Given the description of an element on the screen output the (x, y) to click on. 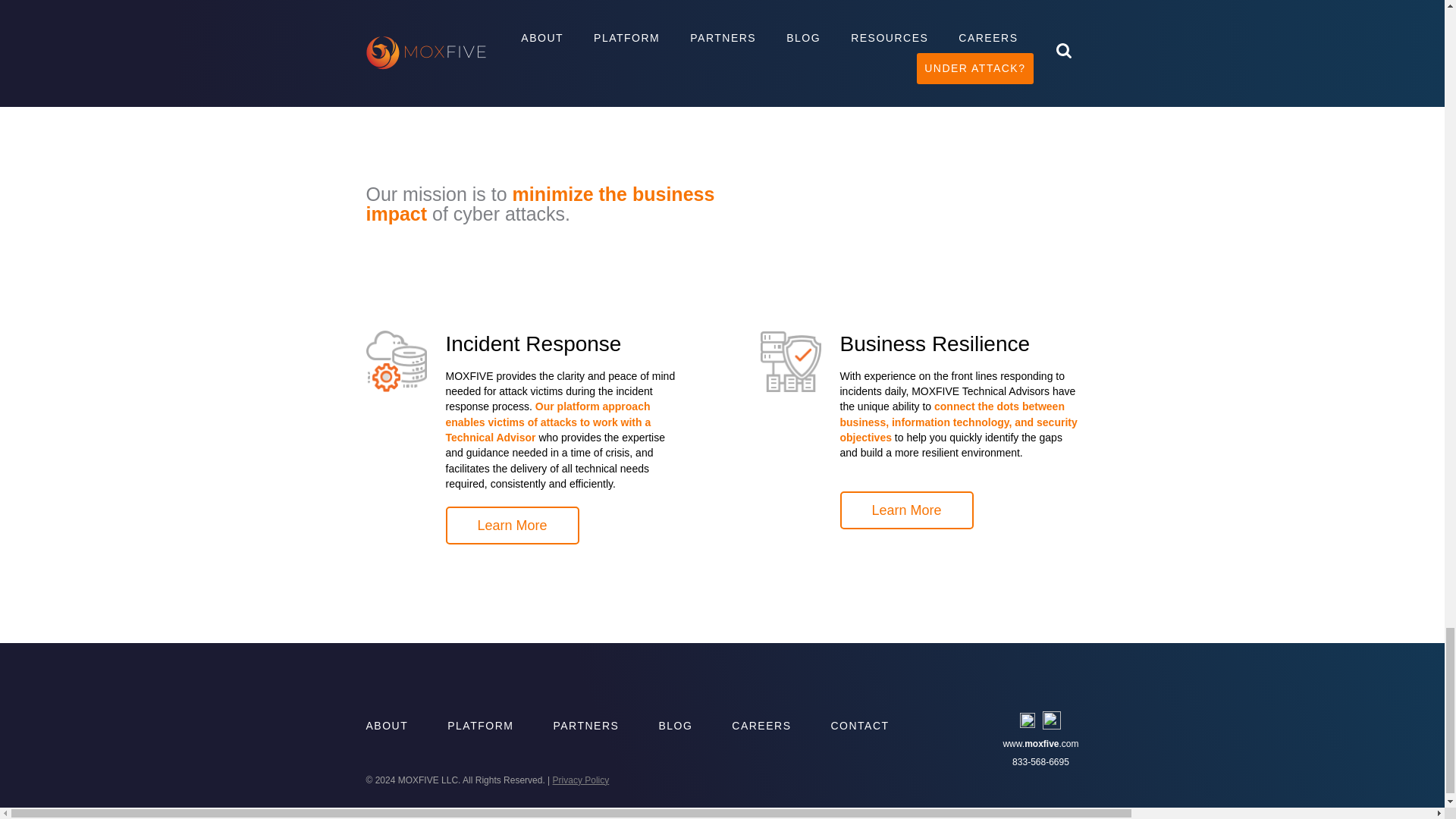
833-568-6695 (1039, 761)
CONTACT (858, 725)
Learn More (512, 525)
PLATFORM (479, 725)
Learn More (907, 510)
BLOG (675, 725)
CAREERS (761, 725)
Privacy Policy (581, 779)
ABOUT (386, 725)
PARTNERS (585, 725)
